Given the description of an element on the screen output the (x, y) to click on. 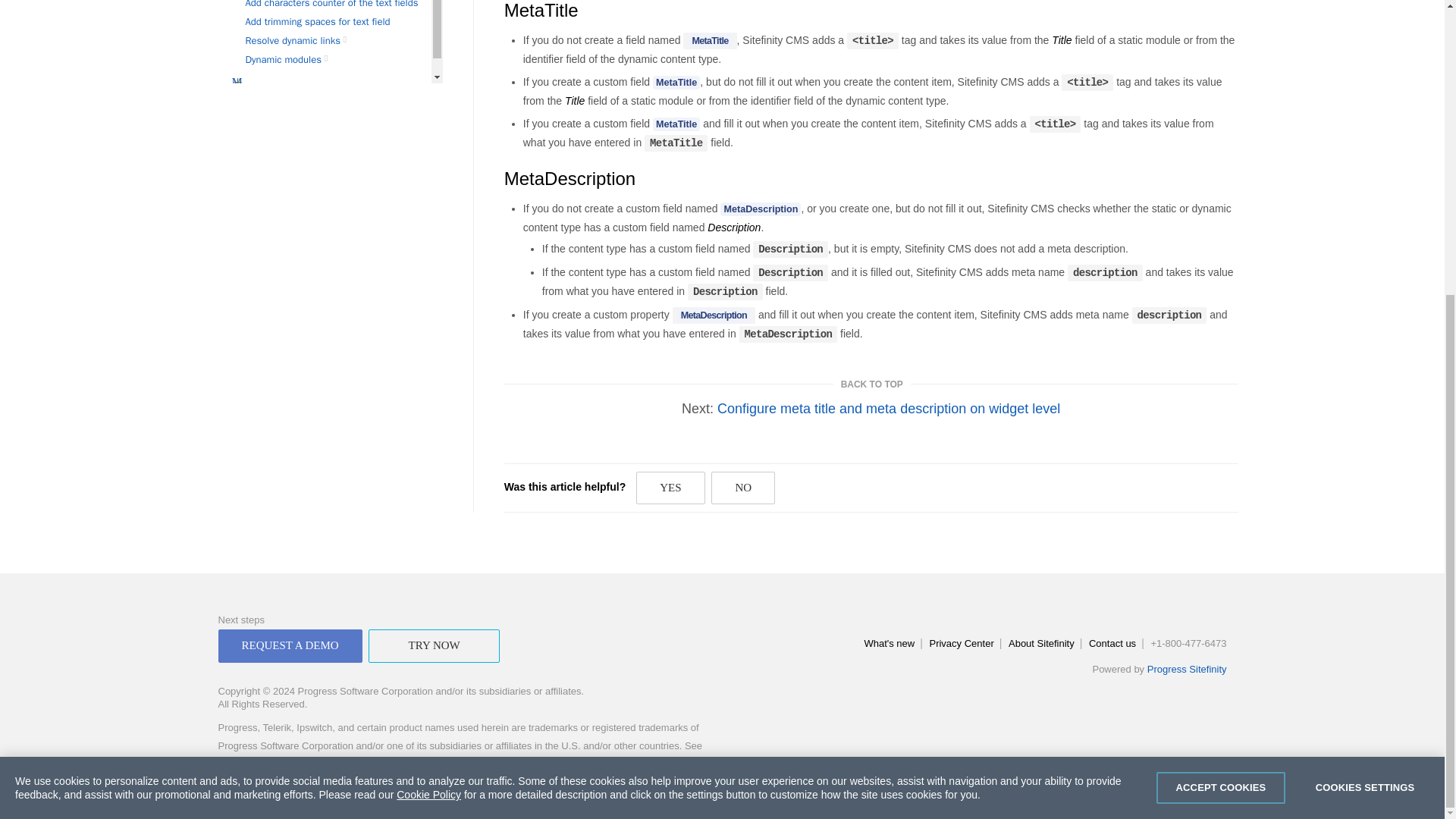
Administration (330, 58)
For developers (349, 39)
Tutorials (237, 92)
